Given the description of an element on the screen output the (x, y) to click on. 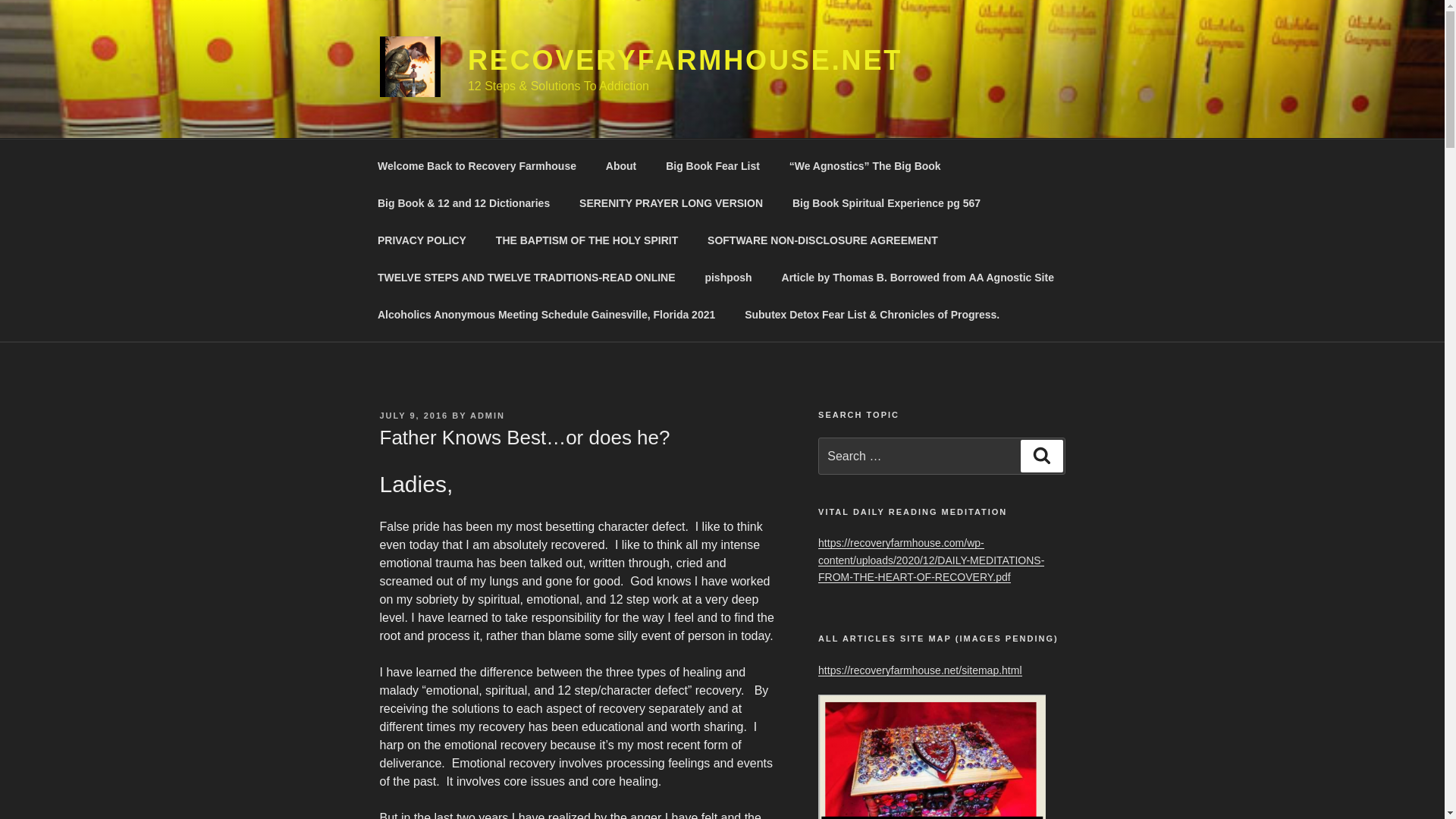
PRIVACY POLICY (421, 239)
THE BAPTISM OF THE HOLY SPIRIT (585, 239)
SERENITY PRAYER LONG VERSION (671, 203)
JULY 9, 2016 (413, 415)
About (620, 165)
TWELVE STEPS AND TWELVE TRADITIONS-READ ONLINE (526, 277)
RECOVERYFARMHOUSE.NET (684, 60)
Big Book Fear List (712, 165)
pishposh (728, 277)
Big Book Spiritual Experience pg 567 (885, 203)
Article by Thomas B. Borrowed from AA Agnostic Site (917, 277)
ADMIN (487, 415)
SOFTWARE NON-DISCLOSURE AGREEMENT (823, 239)
Welcome Back to Recovery Farmhouse (476, 165)
